Given the description of an element on the screen output the (x, y) to click on. 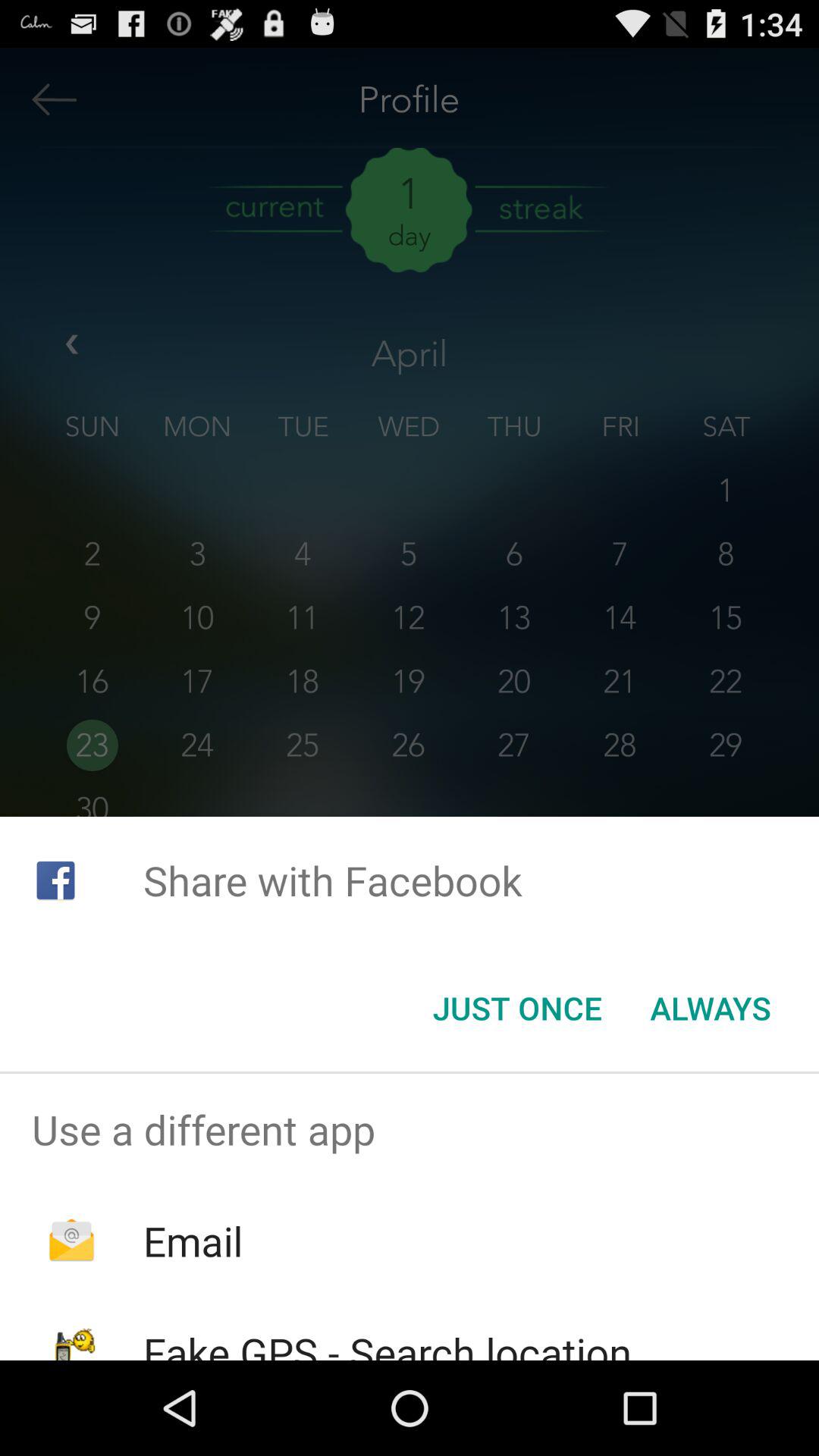
jump to always button (710, 1007)
